Given the description of an element on the screen output the (x, y) to click on. 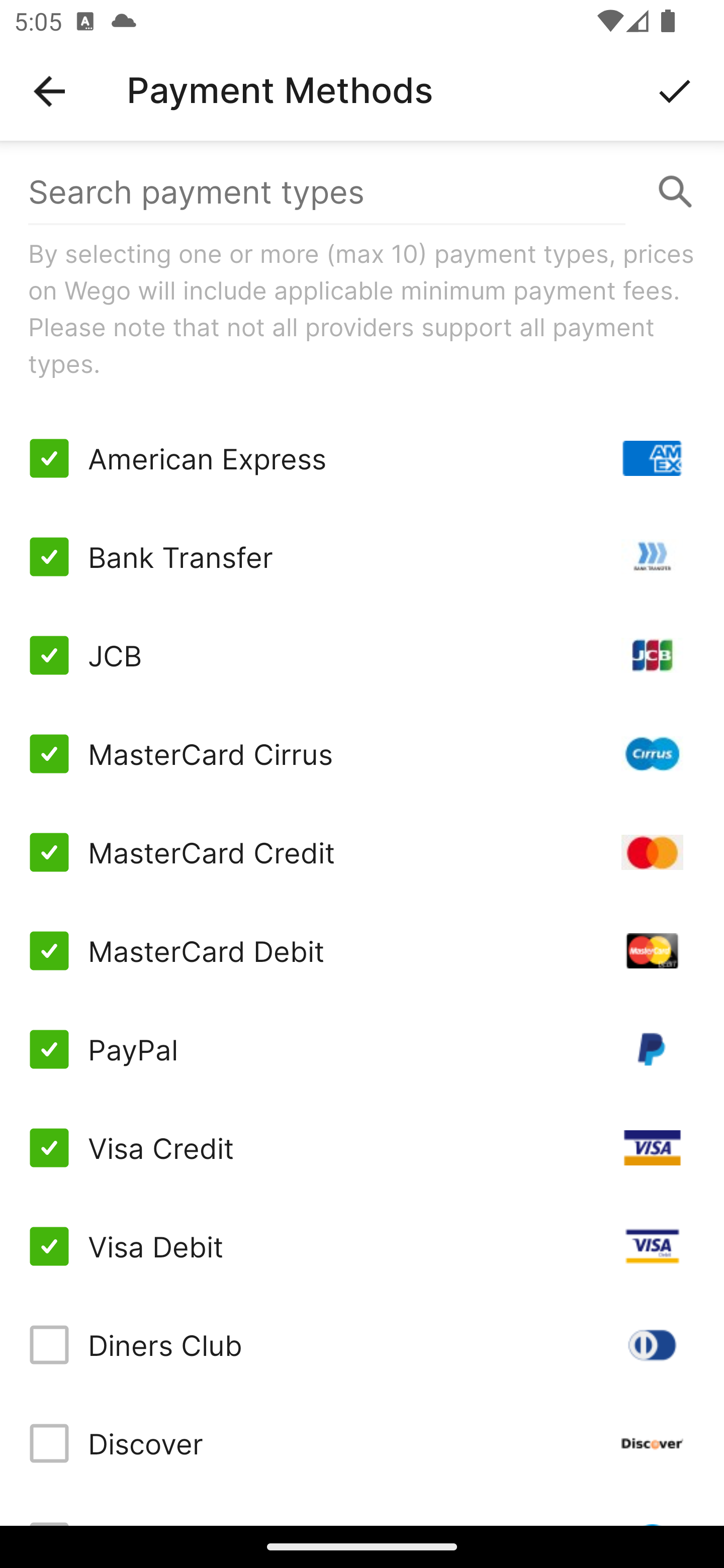
Search payment types  (361, 191)
American Express (362, 458)
Bank Transfer (362, 557)
JCB (362, 655)
MasterCard Cirrus (362, 753)
MasterCard Credit (362, 851)
MasterCard Debit (362, 950)
PayPal (362, 1049)
Visa Credit (362, 1147)
Visa Debit (362, 1245)
Diners Club (362, 1344)
Discover (362, 1442)
